Given the description of an element on the screen output the (x, y) to click on. 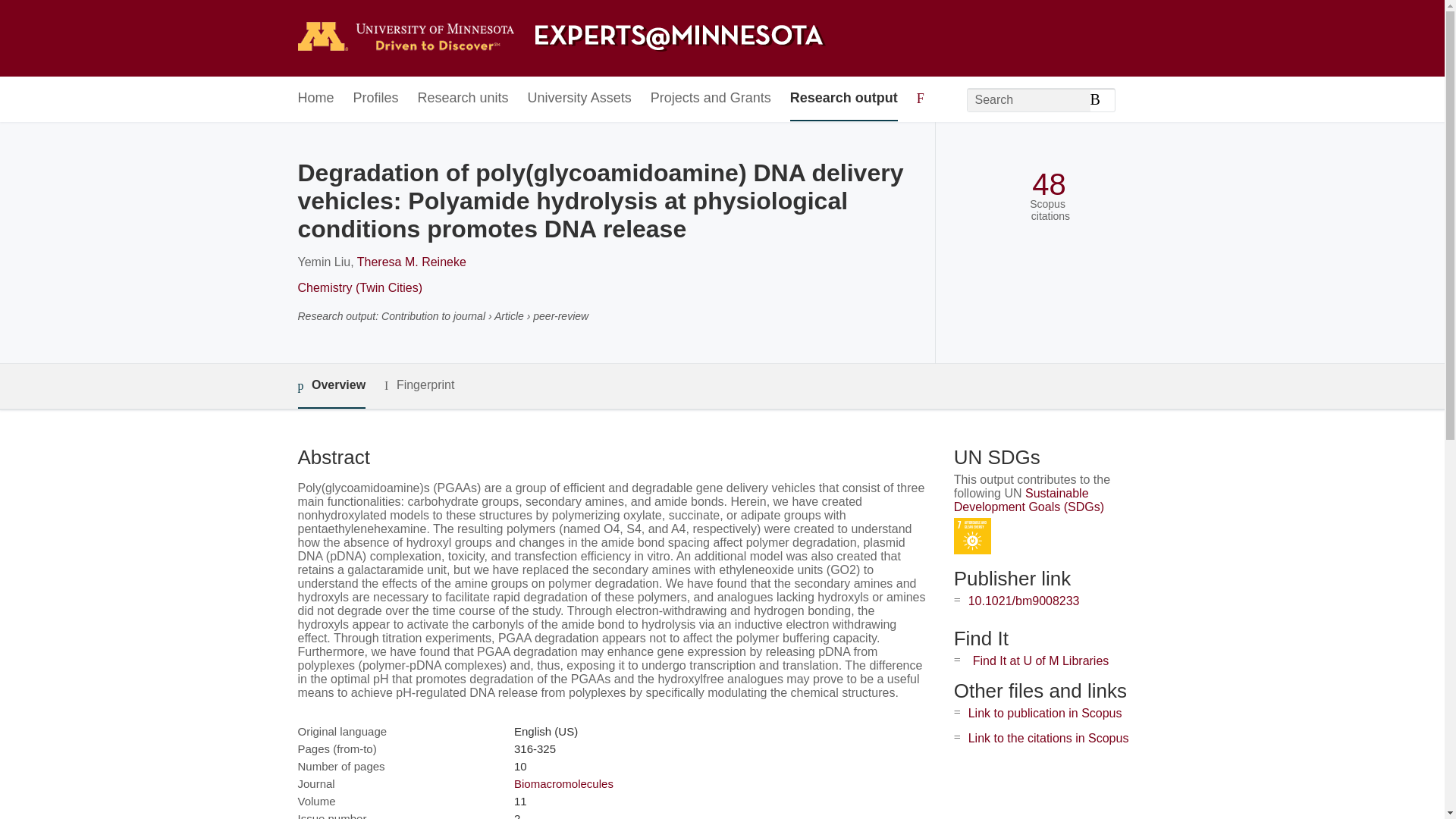
Profiles (375, 98)
Link to the citations in Scopus (1048, 738)
Theresa M. Reineke (410, 261)
Link to publication in Scopus (1045, 712)
SDG 7 - Affordable and Clean Energy (972, 536)
Research units (462, 98)
Research output (844, 98)
Fingerprint (419, 385)
Find It at U of M Libraries (1040, 660)
Biomacromolecules (562, 783)
Projects and Grants (710, 98)
48 (1048, 184)
University Assets (579, 98)
Overview (331, 385)
